Given the description of an element on the screen output the (x, y) to click on. 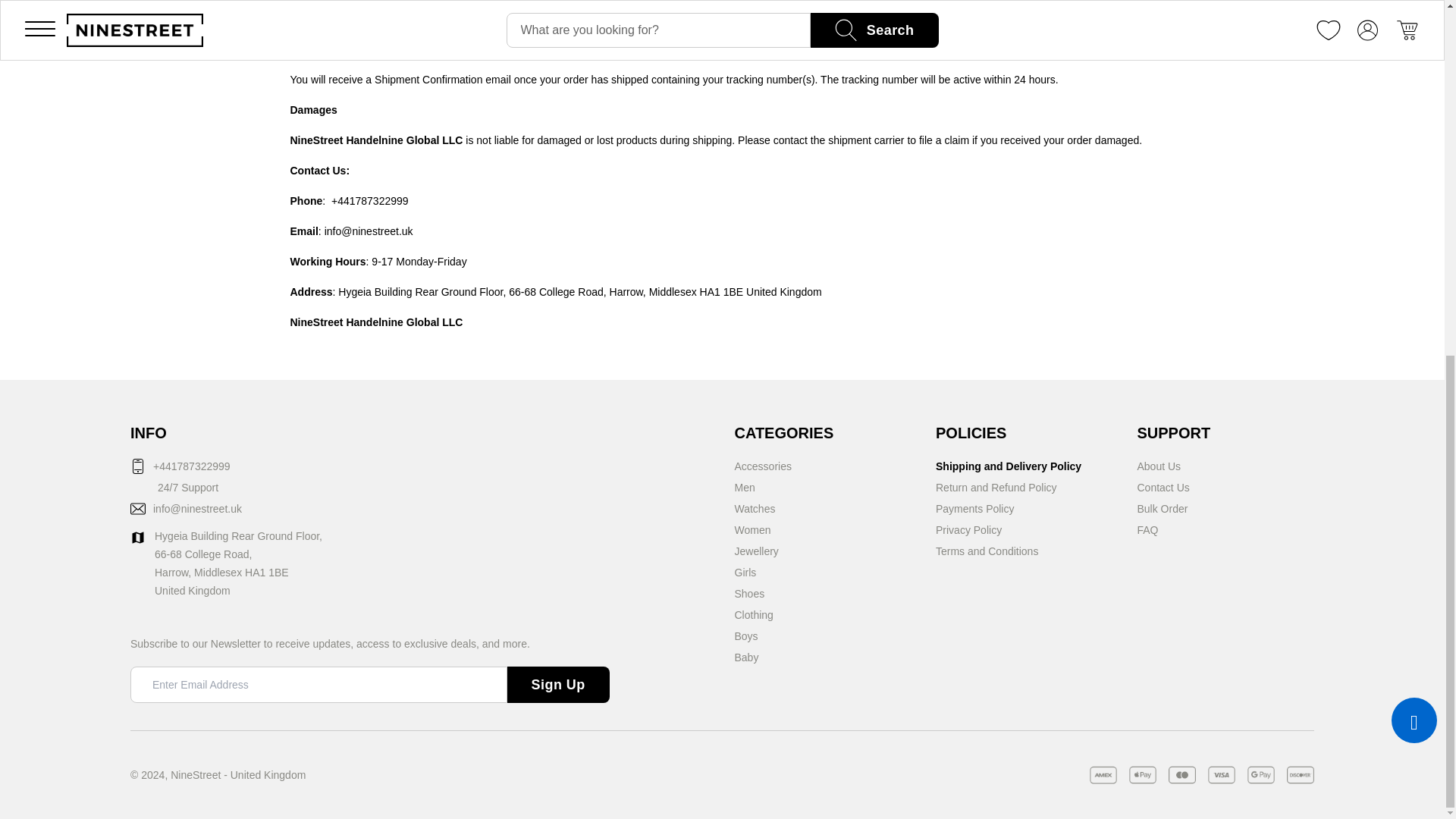
Sign Up (558, 684)
Help (1174, 432)
Shipping and Delivery Policy (1008, 466)
Jewellery (755, 550)
Men (743, 487)
Watches (753, 508)
Bulk Order (1162, 508)
Jewellery (755, 550)
Return and Refund Policy (996, 487)
Privacy Policy (968, 529)
Shoes (748, 593)
About Us (1158, 466)
Terms and Conditions (987, 550)
About Us (1158, 466)
Accessories (761, 466)
